Given the description of an element on the screen output the (x, y) to click on. 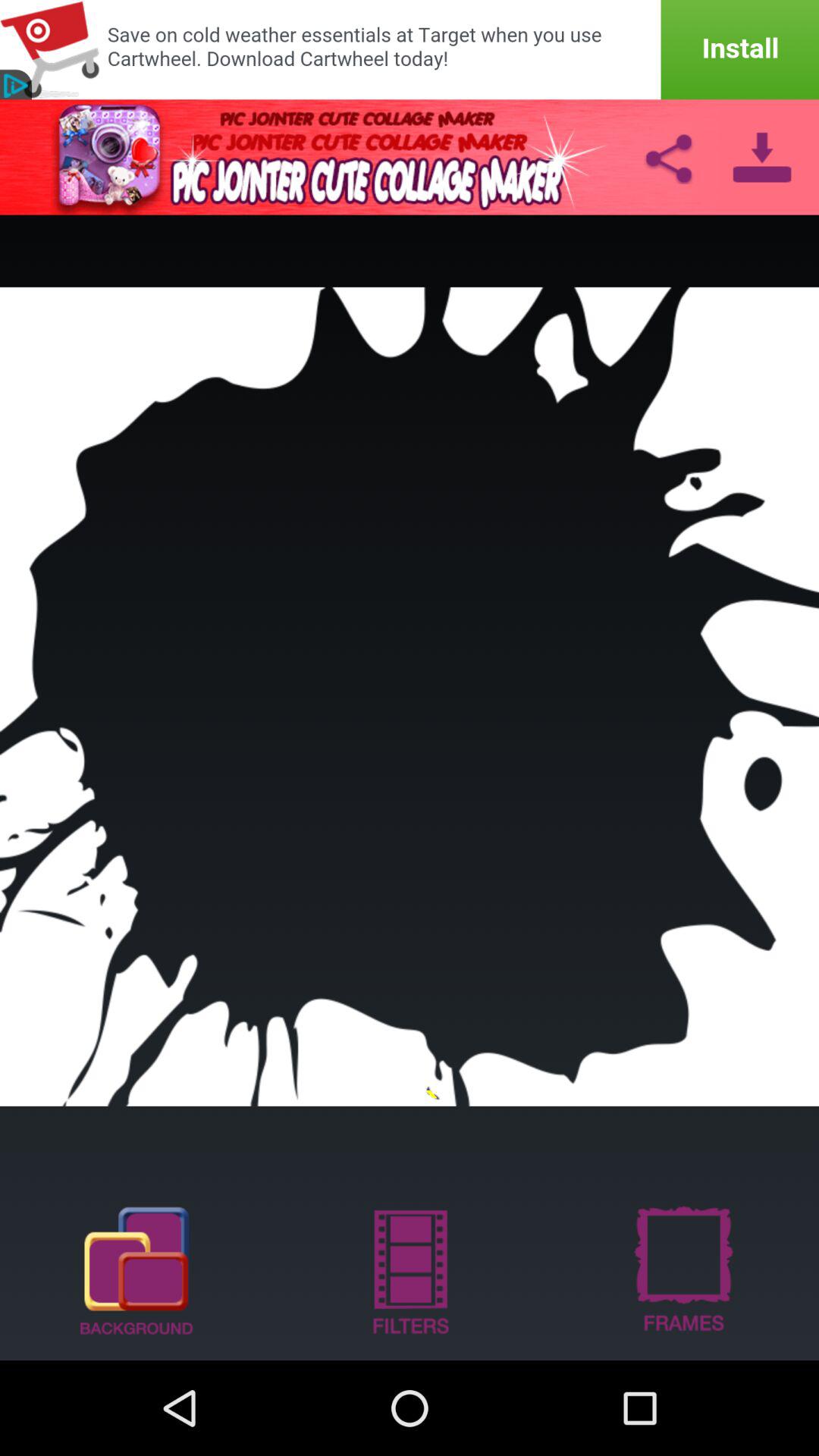
bring up frame selections (682, 1269)
